Given the description of an element on the screen output the (x, y) to click on. 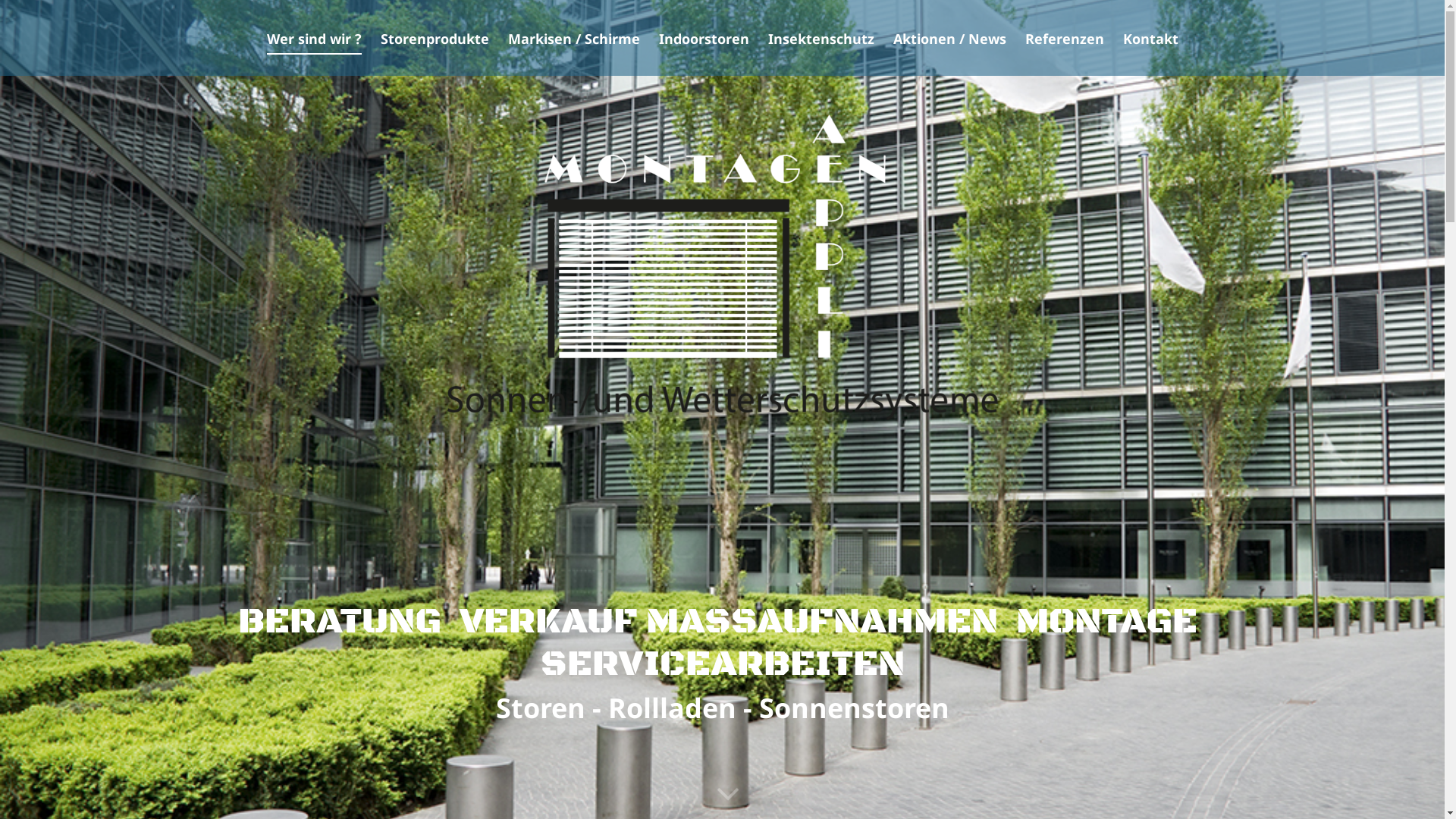
Markisen / Schirme Element type: text (574, 41)
Aktionen / News Element type: text (949, 41)
Indoorstoren Element type: text (703, 41)
Insektenschutz Element type: text (820, 41)
Referenzen Element type: text (1064, 41)
Wer sind wir ? Element type: text (313, 41)
Kontakt Element type: text (1149, 41)
Storenprodukte Element type: text (434, 41)
